Given the description of an element on the screen output the (x, y) to click on. 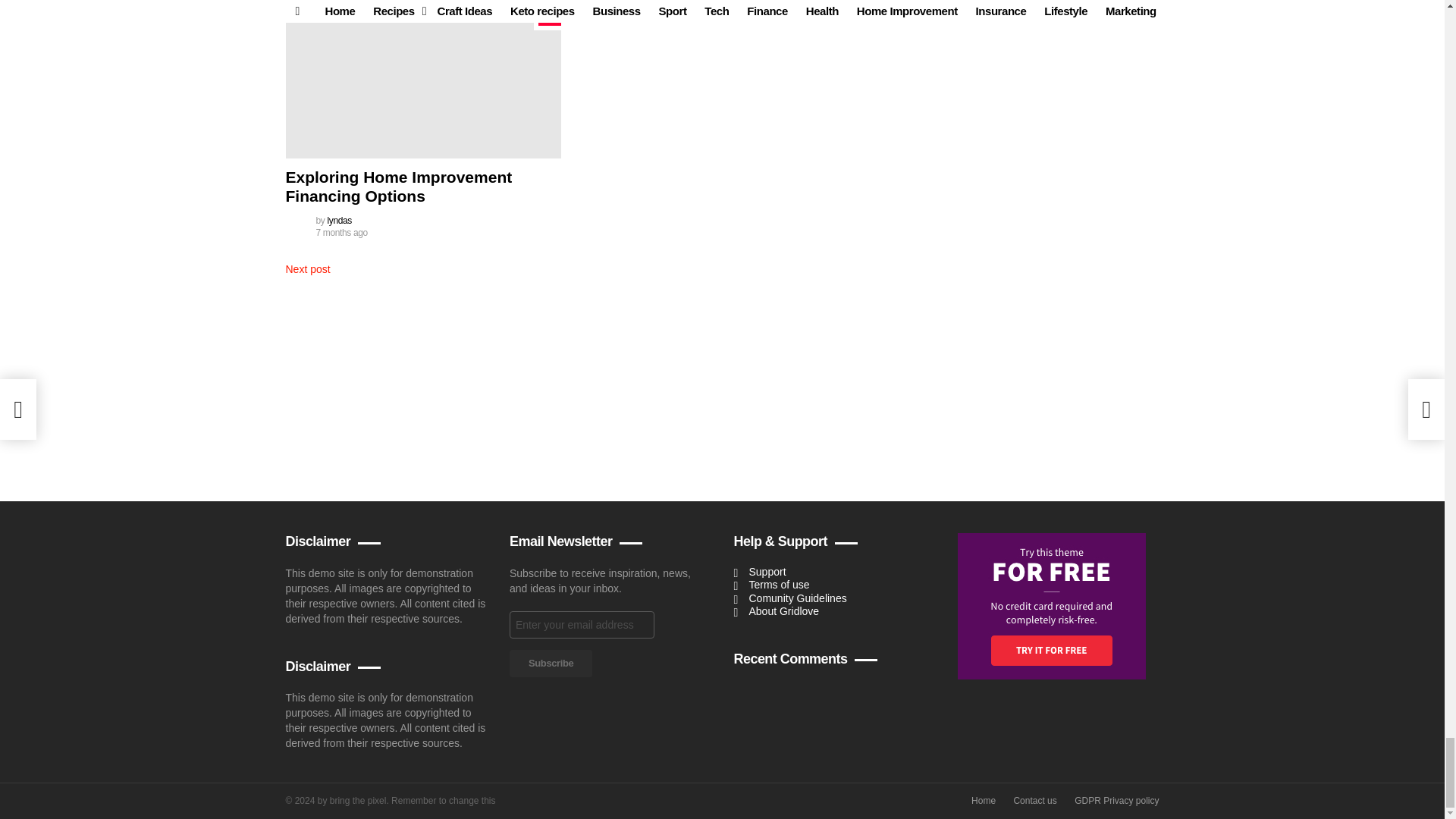
Subscribe (550, 663)
Subscribe (550, 663)
